Given the description of an element on the screen output the (x, y) to click on. 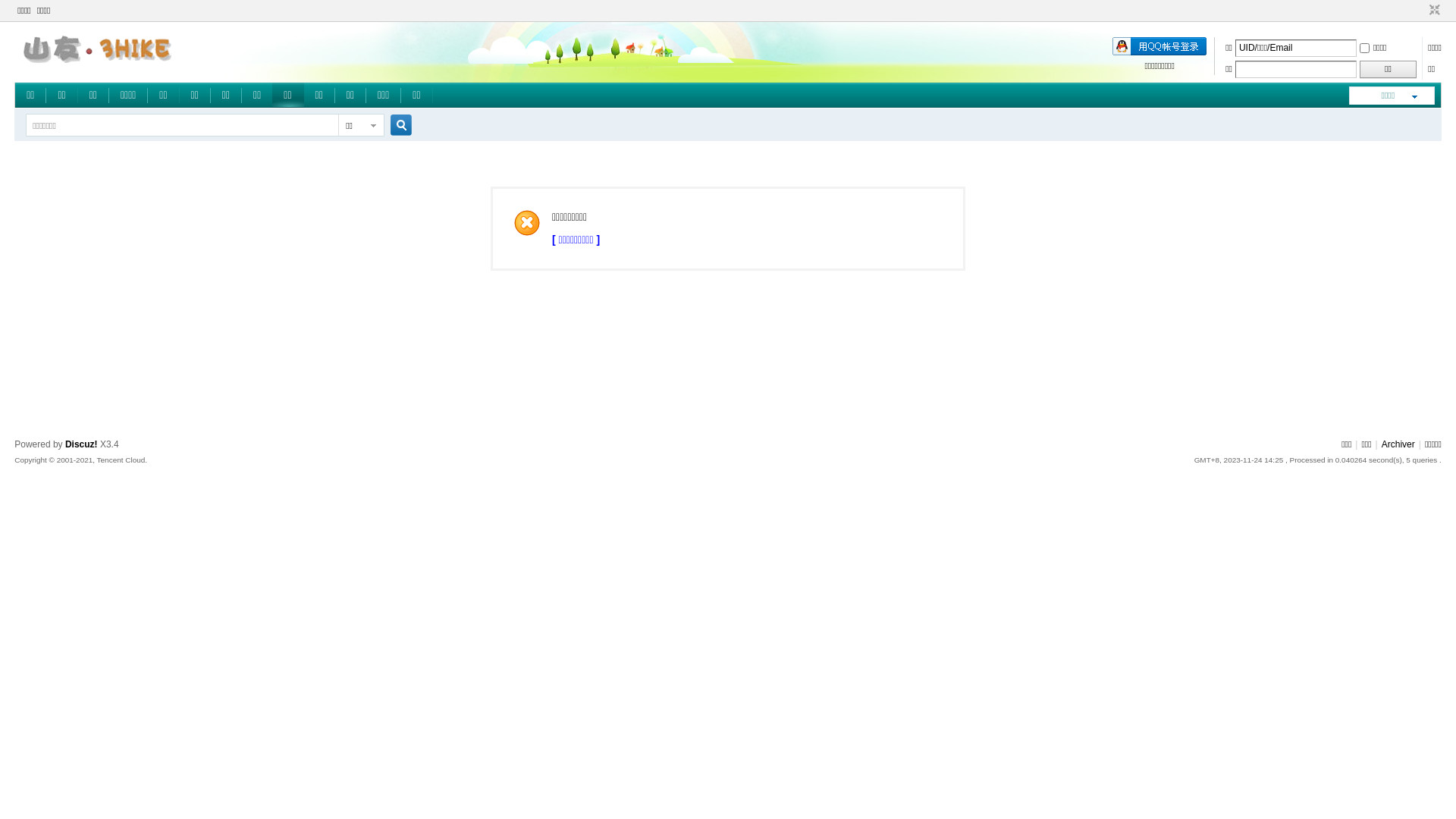
true Element type: text (395, 125)
Archiver Element type: text (1398, 444)
Discuz! Element type: text (81, 444)
